Given the description of an element on the screen output the (x, y) to click on. 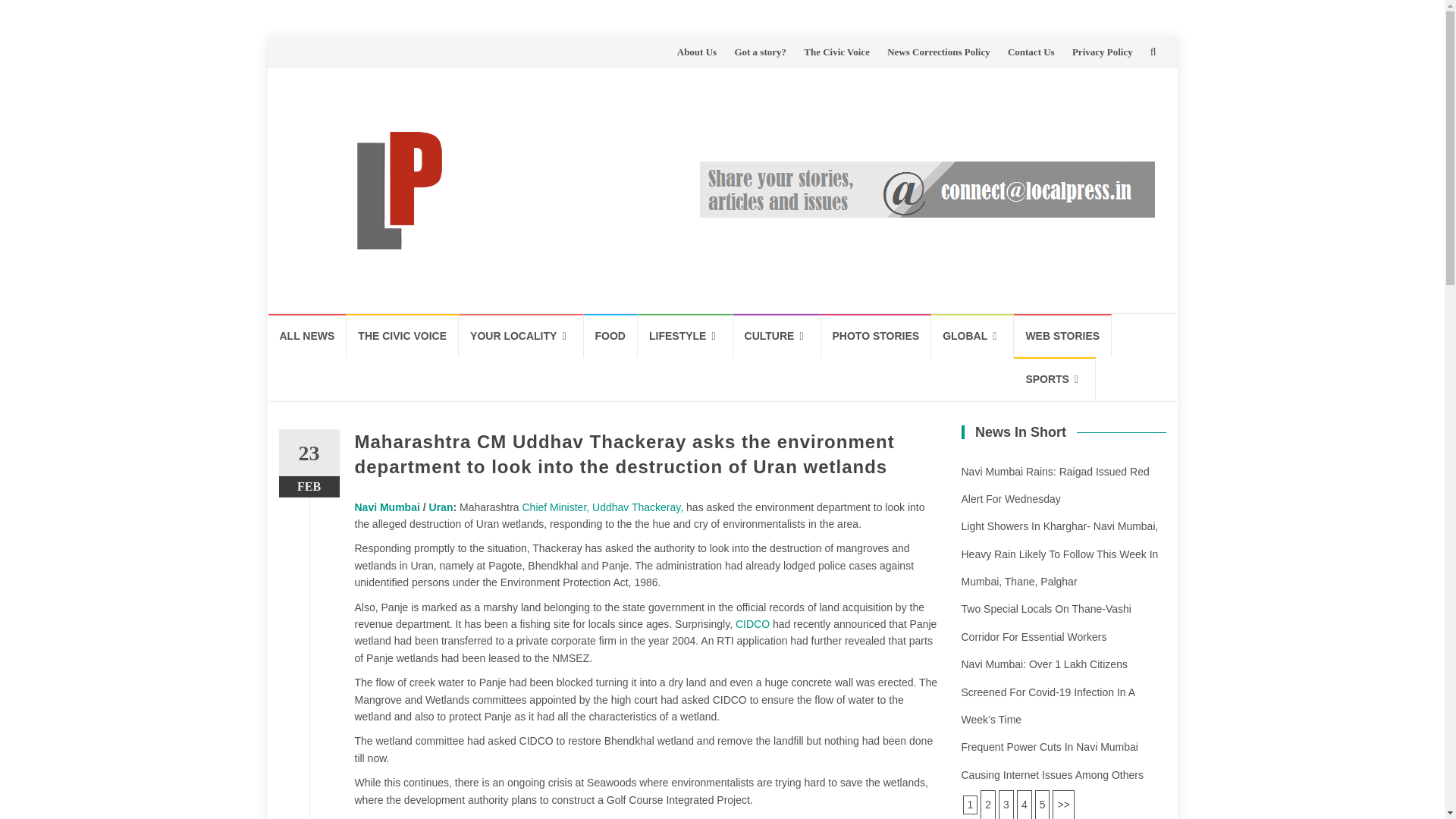
YOUR LOCALITY (520, 335)
FOOD (610, 335)
Got a story? (759, 51)
THE CIVIC VOICE (402, 335)
2 (1062, 804)
Contact Us (1030, 51)
LIFESTYLE (685, 335)
Privacy Policy (1101, 51)
News Corrections Policy (938, 51)
The Civic Voice (836, 51)
ALL NEWS (307, 335)
About Us (696, 51)
